Given the description of an element on the screen output the (x, y) to click on. 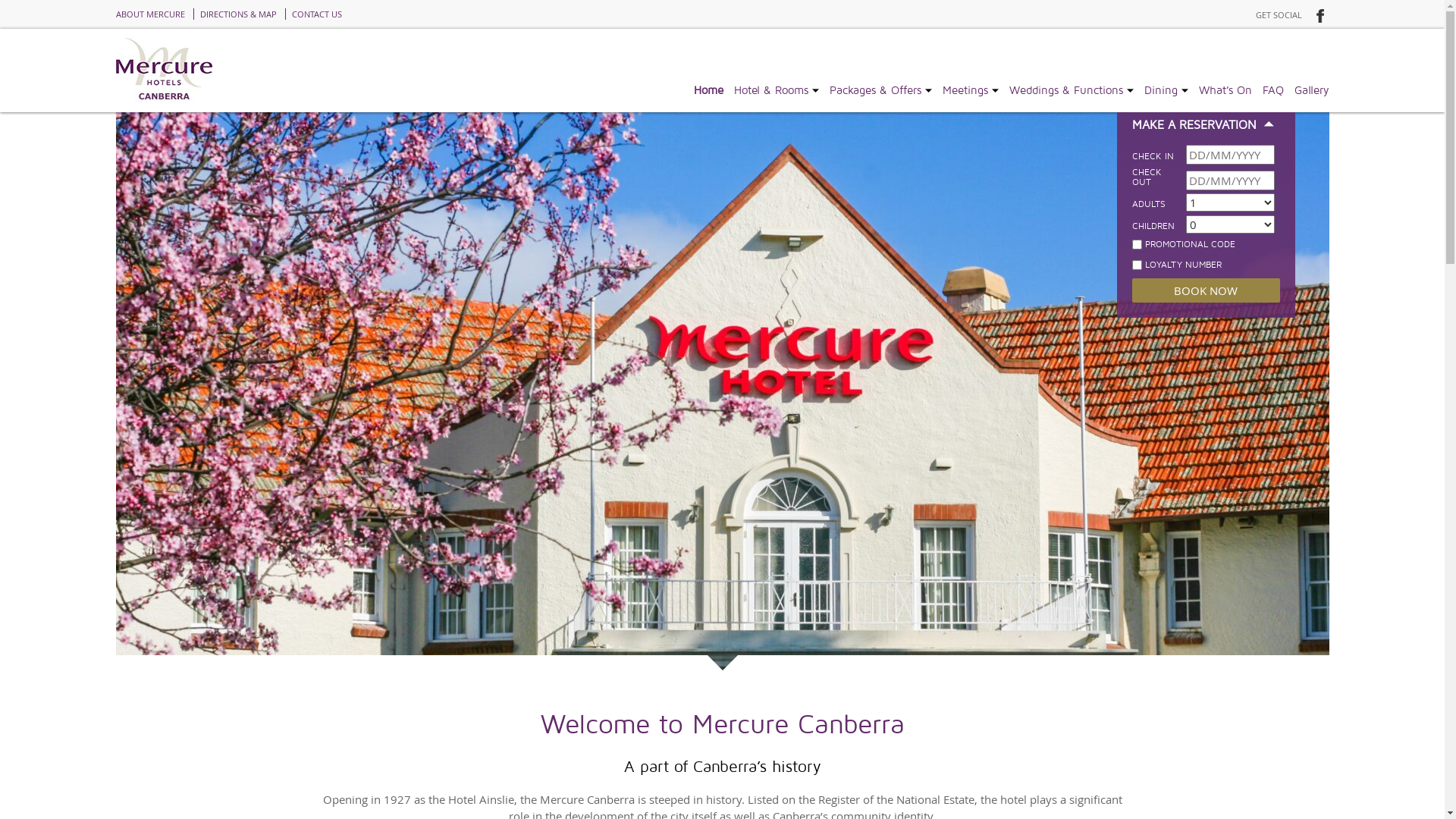
Facebook Element type: text (1317, 14)
ABOUT MERCURE Element type: text (152, 13)
Meetings Element type: text (964, 90)
BOOK NOW Element type: text (1205, 290)
CONTACT US Element type: text (316, 13)
Dining Element type: text (1159, 90)
FAQ Element type: text (1272, 90)
DIRECTIONS & MAP Element type: text (237, 13)
Gallery Element type: text (1310, 90)
Home Element type: text (707, 90)
Packages & Offers Element type: text (875, 90)
Hotel & Rooms Element type: text (771, 90)
Weddings & Functions Element type: text (1065, 90)
